Given the description of an element on the screen output the (x, y) to click on. 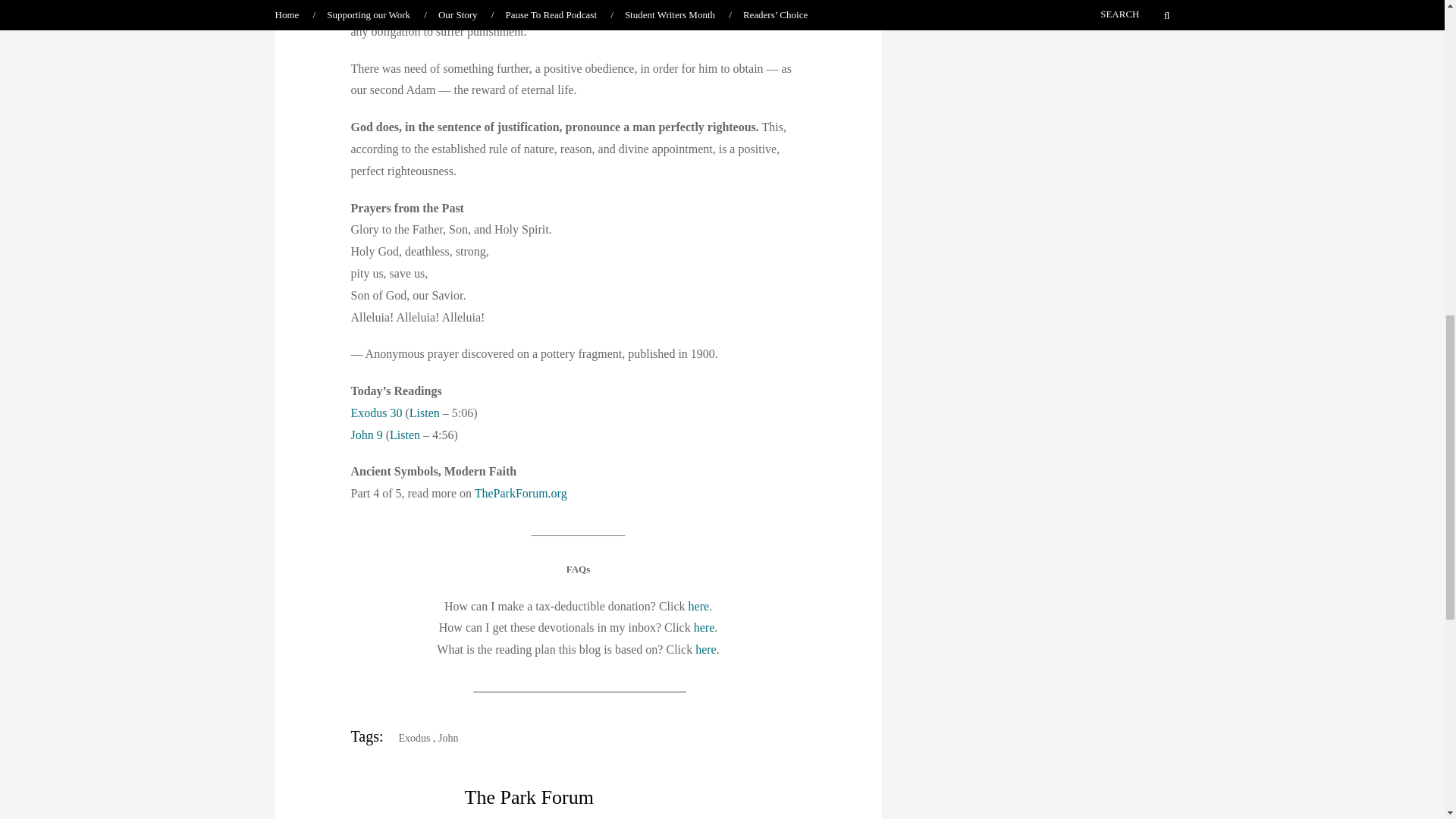
John 9 (365, 434)
here (699, 605)
John (448, 737)
Exodus 30 (375, 412)
Exodus (408, 737)
here (705, 649)
TheParkForum.org (520, 492)
Listen (424, 412)
Listen (405, 434)
here (704, 626)
